Given the description of an element on the screen output the (x, y) to click on. 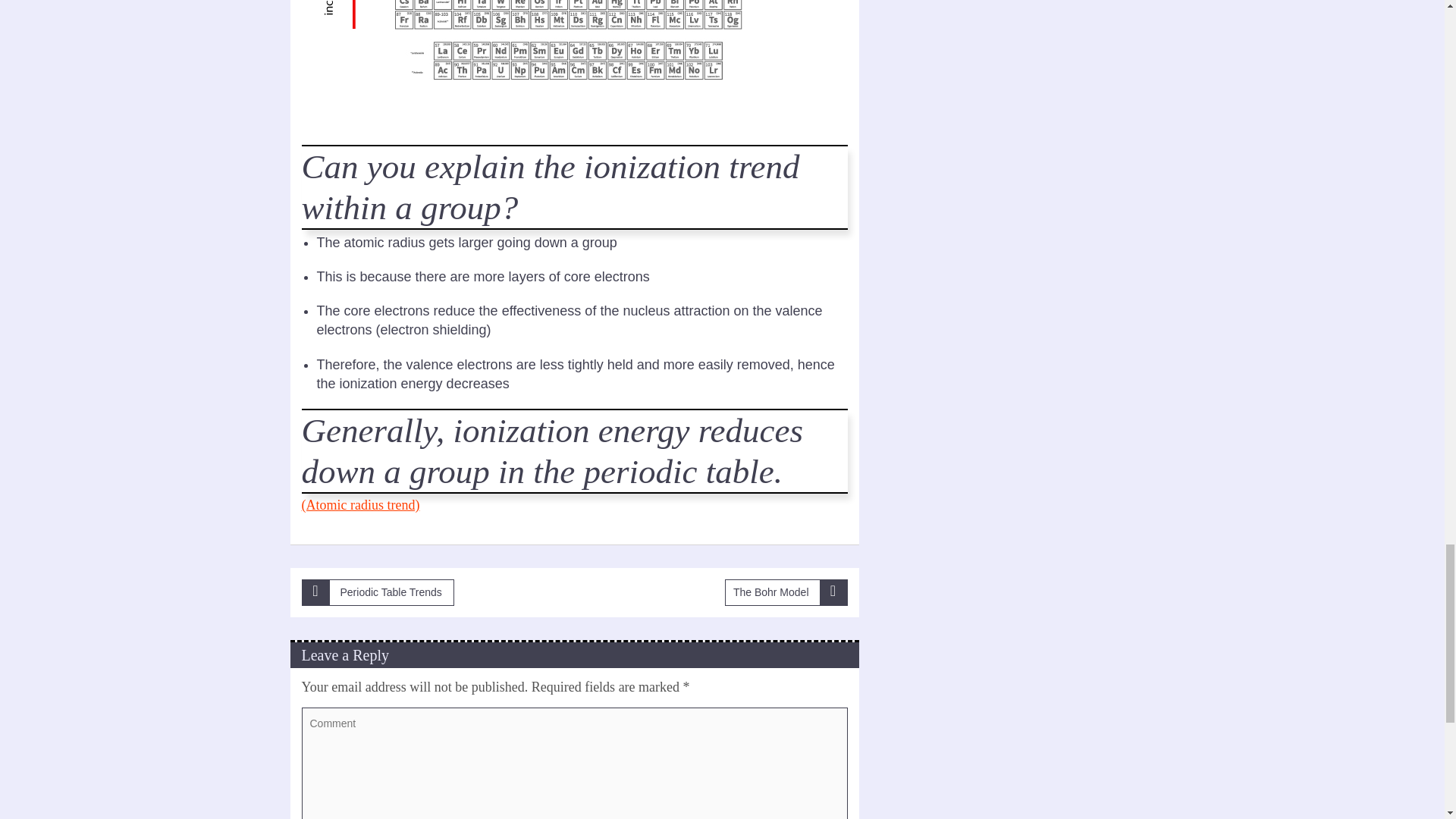
Periodic Table Trends (377, 592)
The Bohr Model (786, 592)
